Given the description of an element on the screen output the (x, y) to click on. 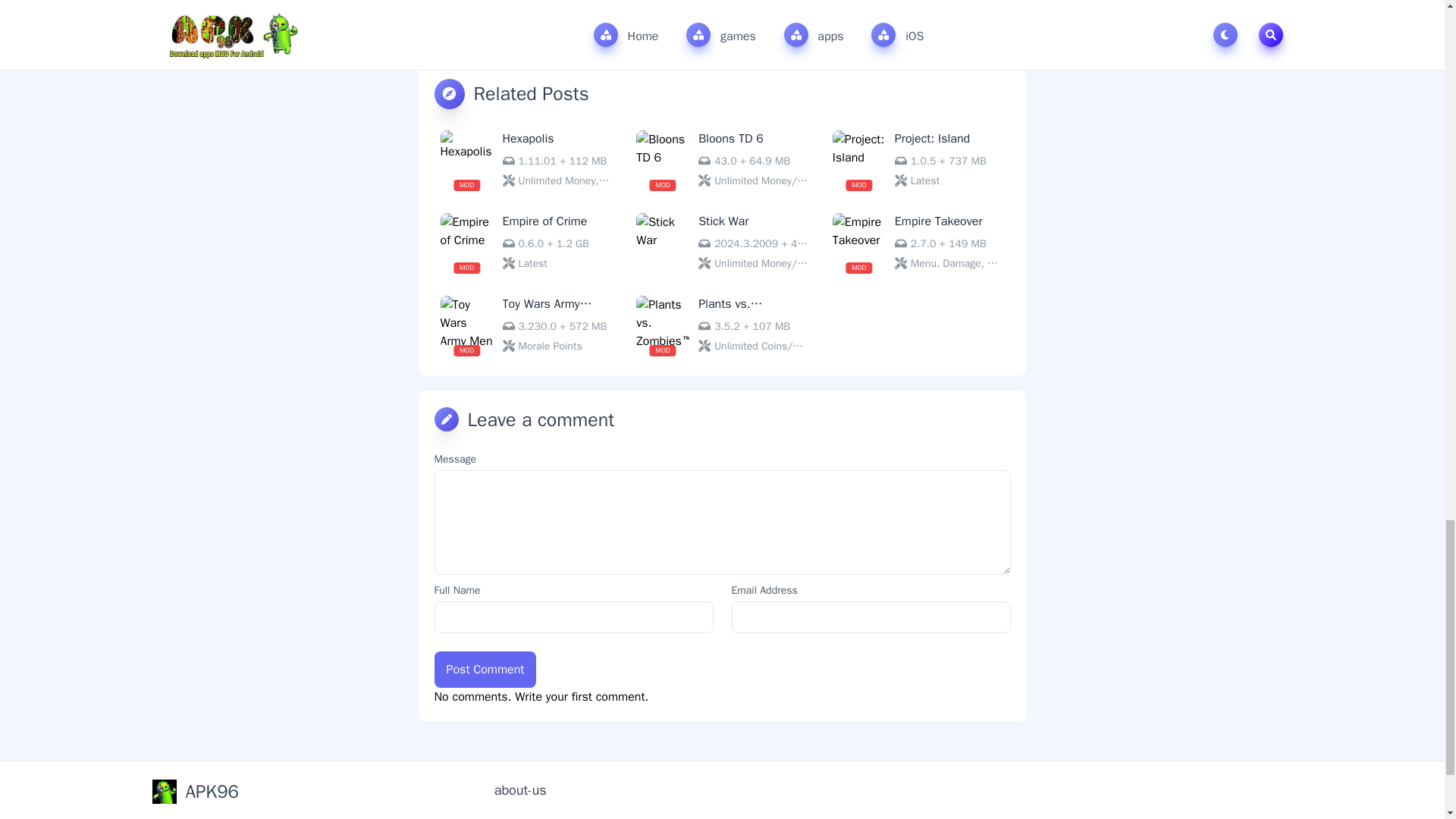
Project: Island (918, 159)
Hexapolis (525, 159)
Empire Takeover (918, 241)
Empire of Crime (525, 241)
Stick War (721, 241)
Bloons TD 6 (721, 159)
Toy Wars Army Men Strike (525, 324)
